Given the description of an element on the screen output the (x, y) to click on. 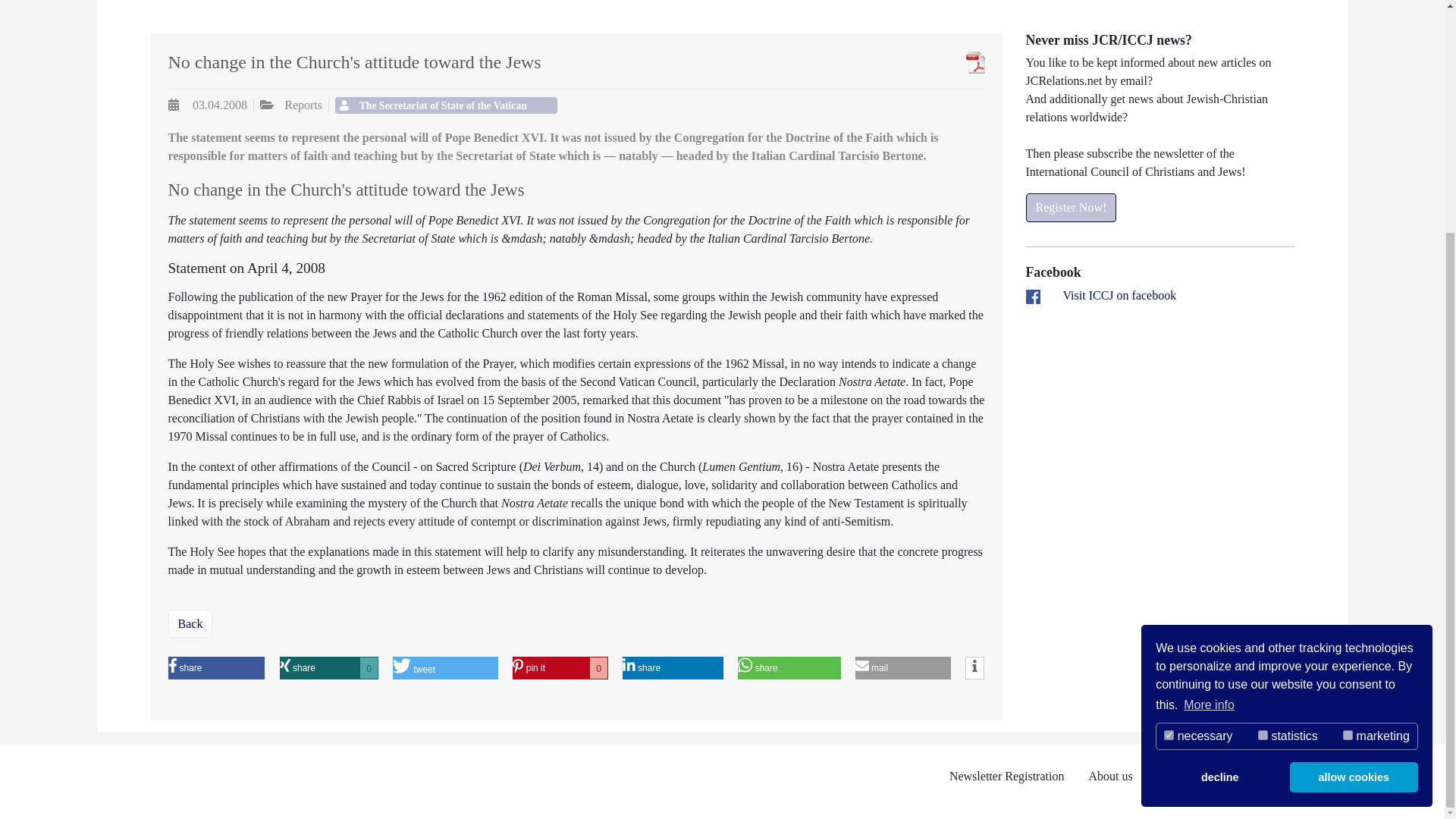
share (704, 667)
Share on Facebook (189, 667)
More info (1208, 388)
decline (1220, 460)
tweet (337, 667)
Share on Twitter (428, 667)
Share on XING (306, 667)
Register Now! (1070, 207)
Open external link in new window (1119, 295)
share (86, 667)
Pin it on Pinterest (209, 667)
Back (546, 667)
Share on LinkedIn (47, 623)
share (662, 667)
